Given the description of an element on the screen output the (x, y) to click on. 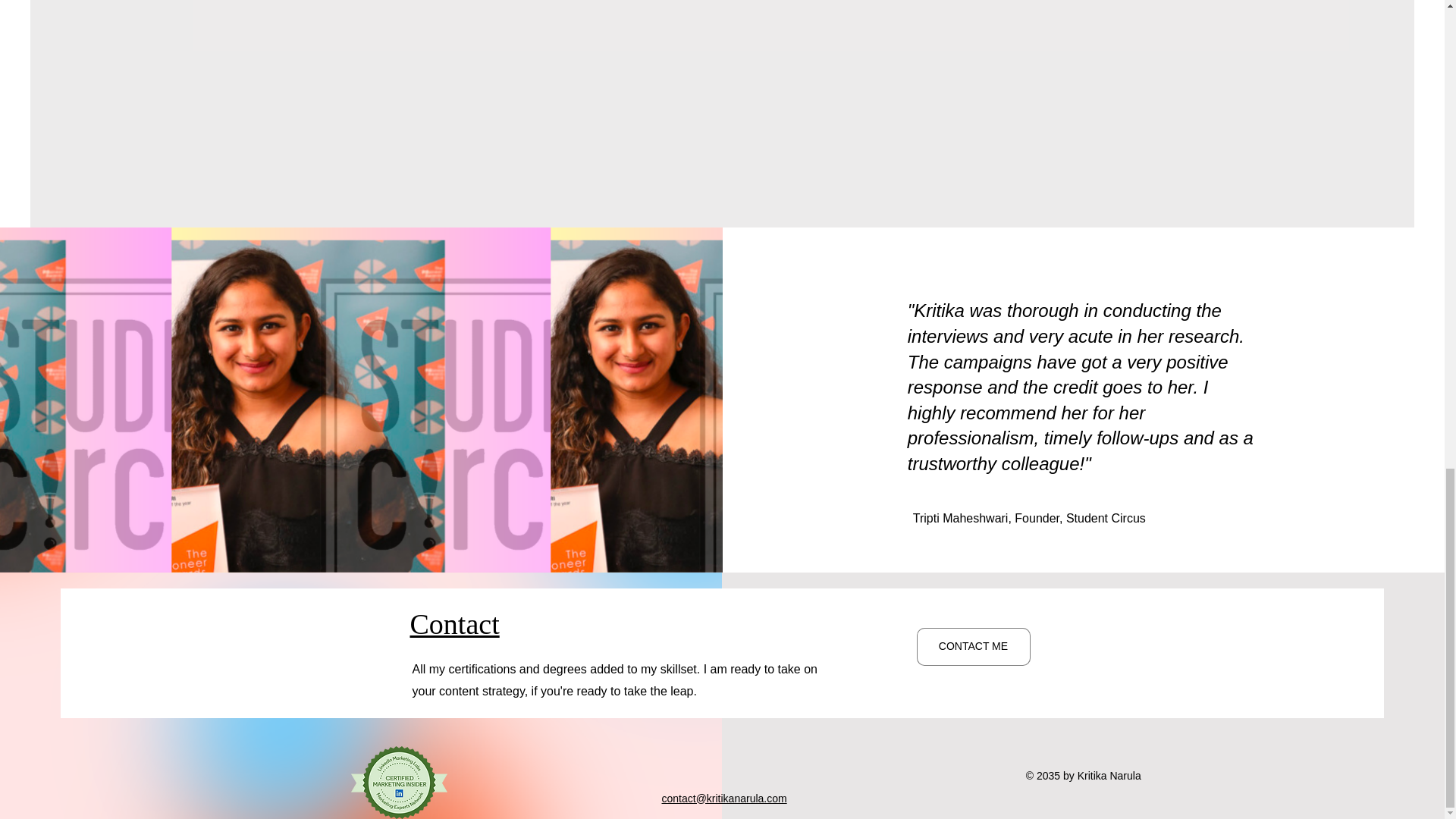
Contact (454, 623)
CONTACT ME (972, 646)
